Given the description of an element on the screen output the (x, y) to click on. 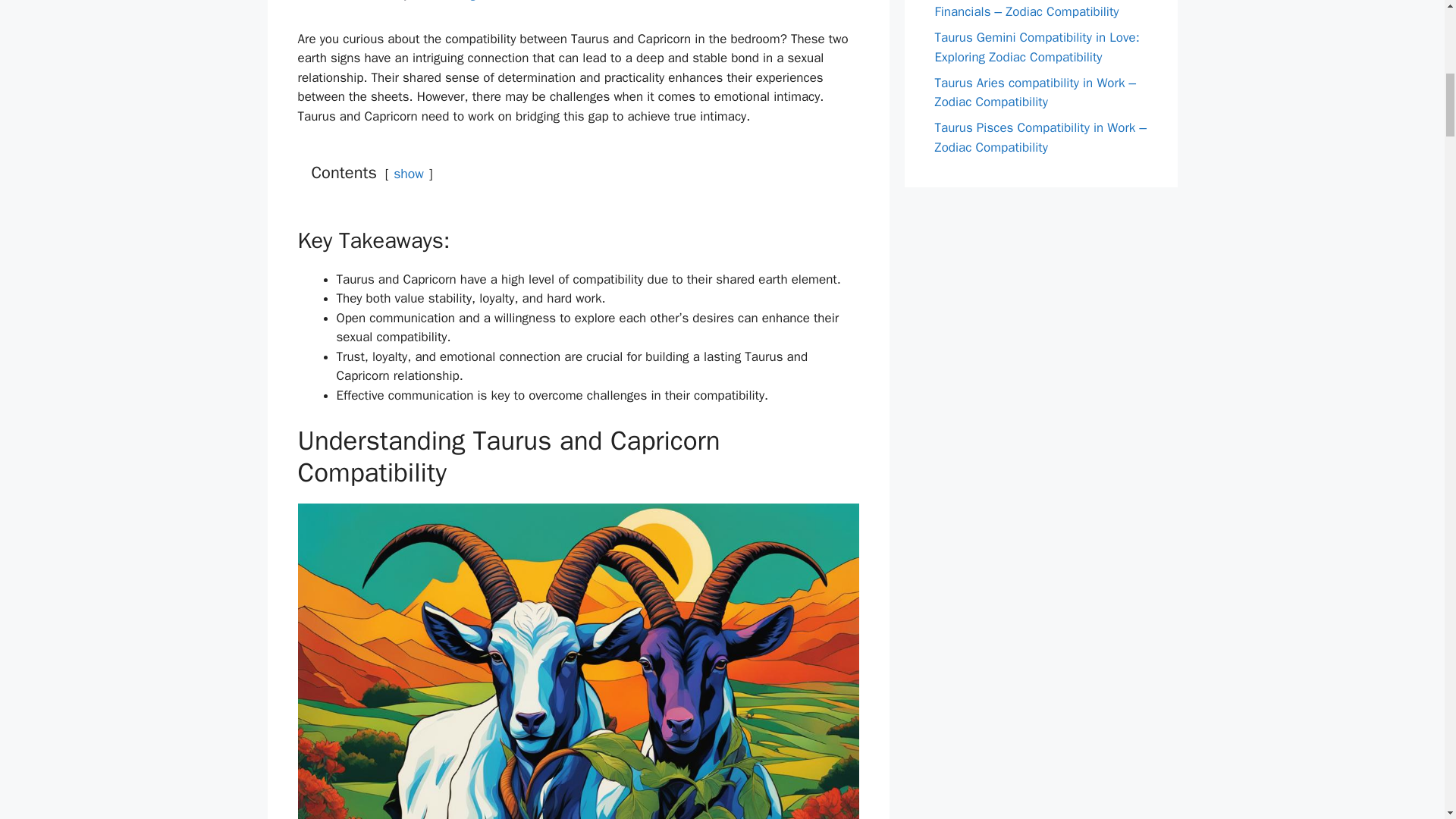
show (408, 173)
View all posts by VibrationSurge (446, 0)
VibrationSurge (446, 0)
